Given the description of an element on the screen output the (x, y) to click on. 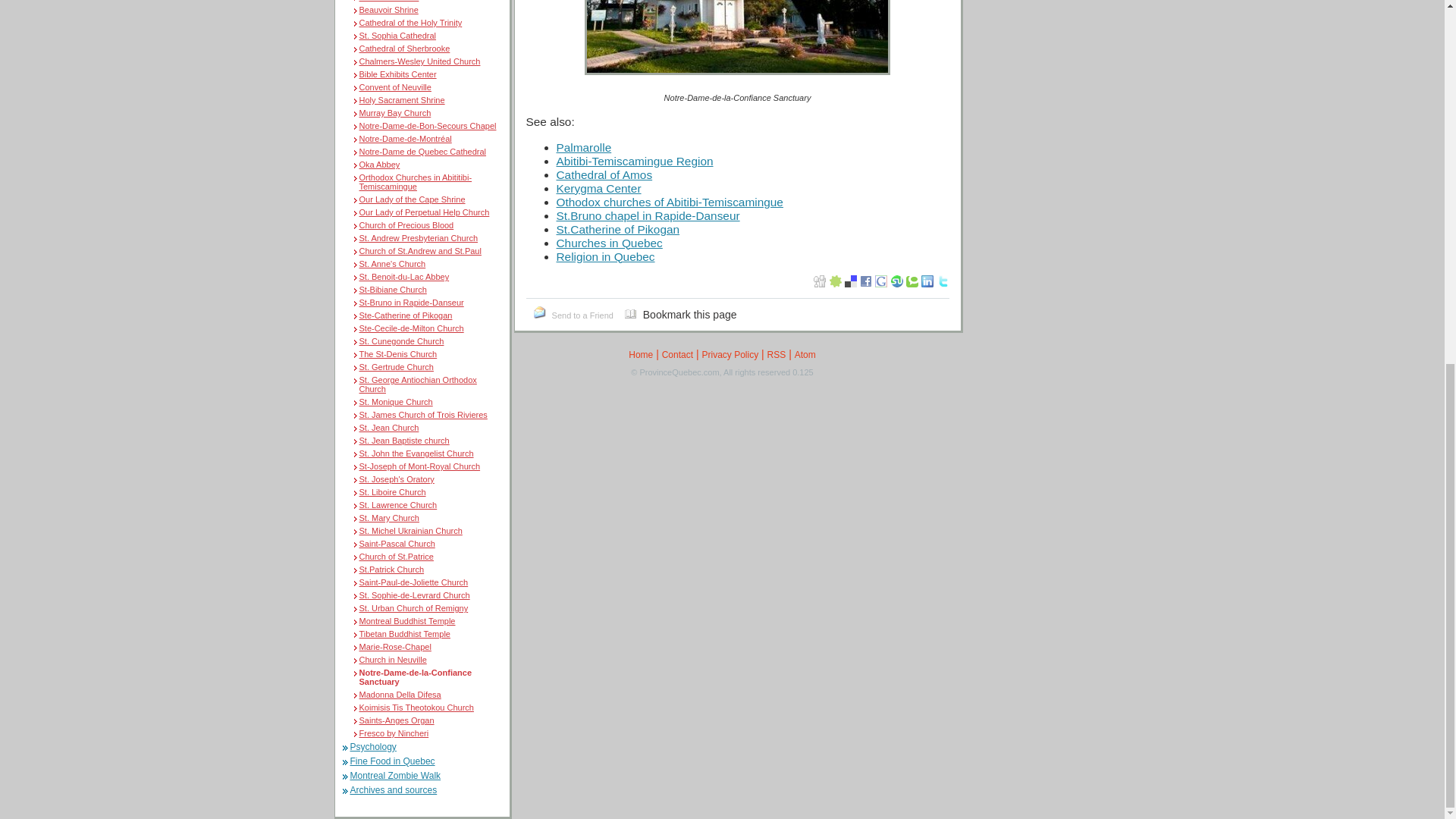
Sphinn (835, 281)
Digg (819, 281)
Amos Cathedral (389, 0)
StumbleUpon (896, 281)
Facebook (866, 281)
del.icio.us (850, 281)
Google (880, 281)
